Given the description of an element on the screen output the (x, y) to click on. 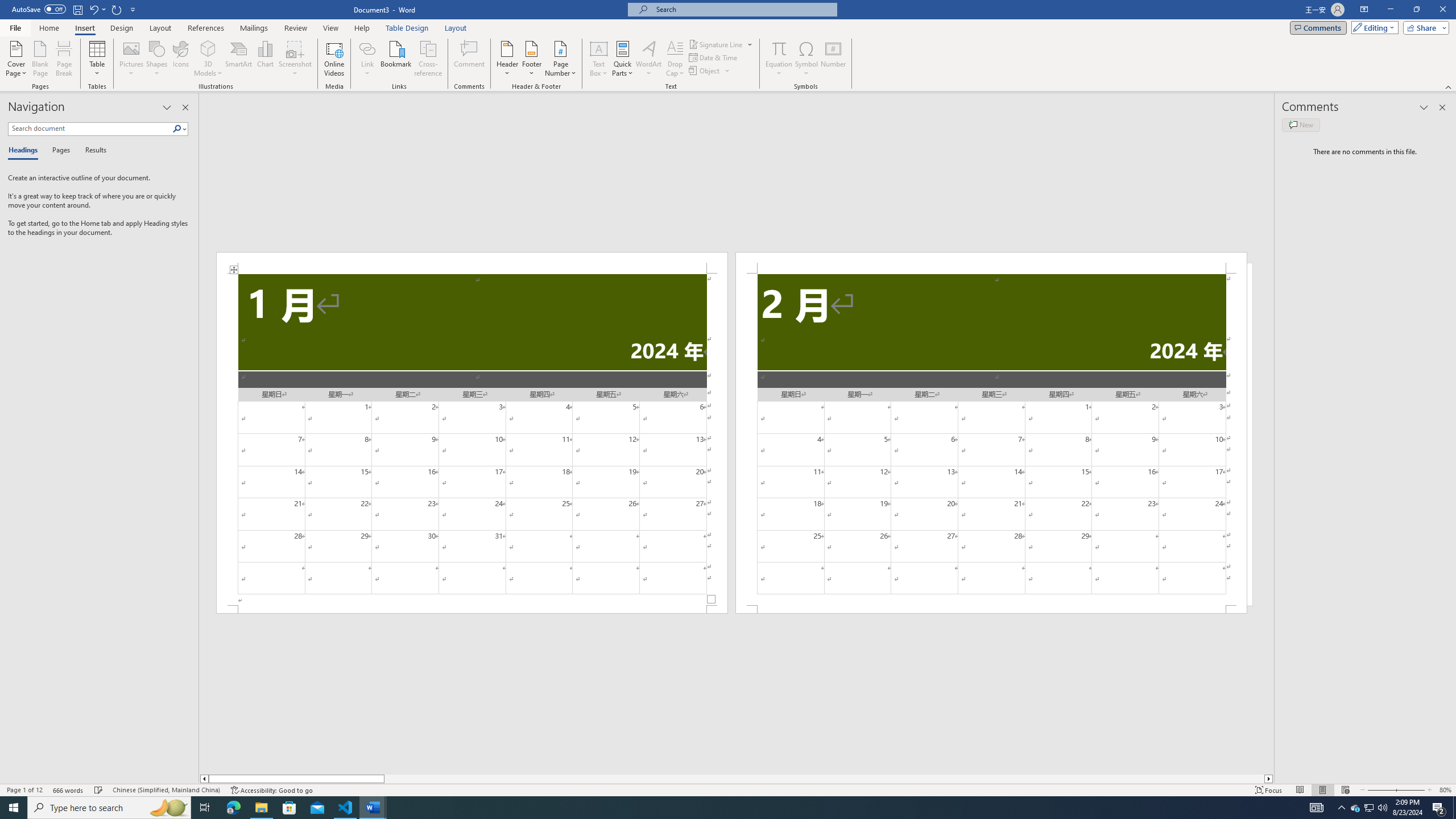
Link (367, 58)
Pages (59, 150)
Column right (1268, 778)
Signature Line (716, 44)
Mode (1372, 27)
Page 2 content (991, 439)
